Given the description of an element on the screen output the (x, y) to click on. 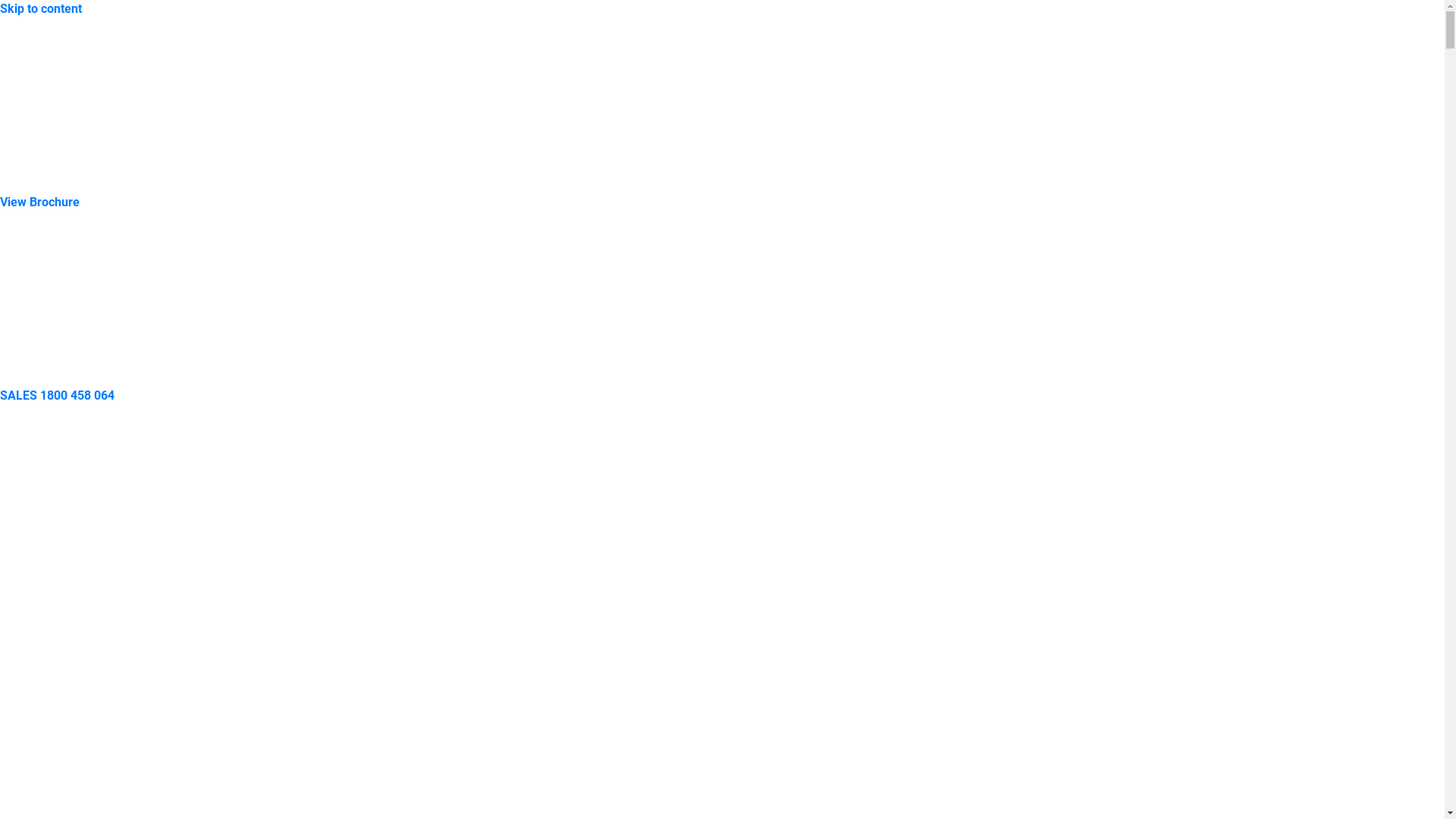
country-club-living-logo2 Element type: hover (87, 105)
Skip to content Element type: text (40, 8)
country-club-living-logo2 Element type: hover (87, 298)
SALES 1800 458 064 Element type: text (57, 395)
View Brochure Element type: text (39, 201)
